Given the description of an element on the screen output the (x, y) to click on. 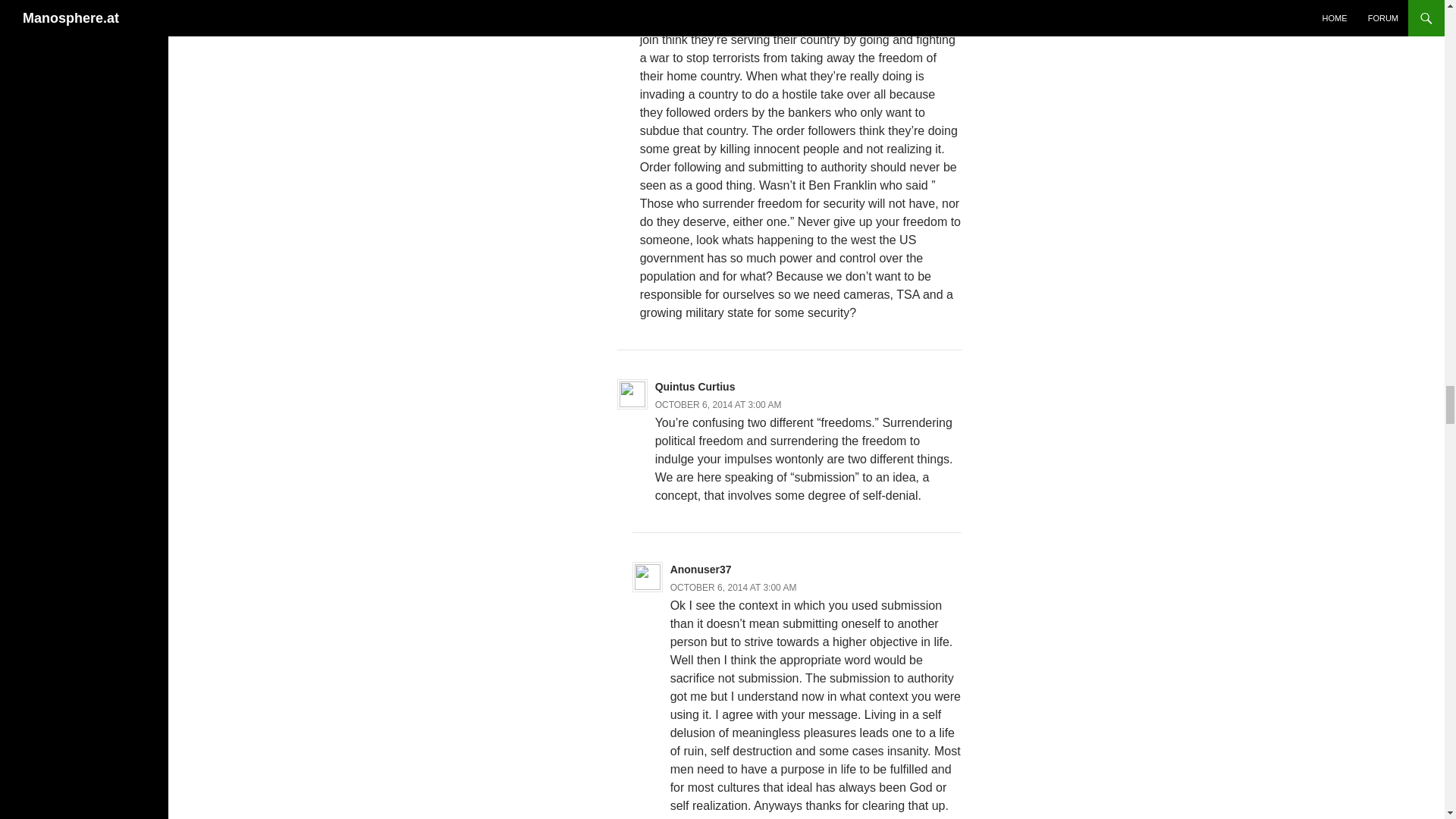
OCTOBER 6, 2014 AT 3:00 AM (732, 587)
OCTOBER 6, 2014 AT 3:00 AM (718, 404)
Quintus Curtius (695, 386)
